Given the description of an element on the screen output the (x, y) to click on. 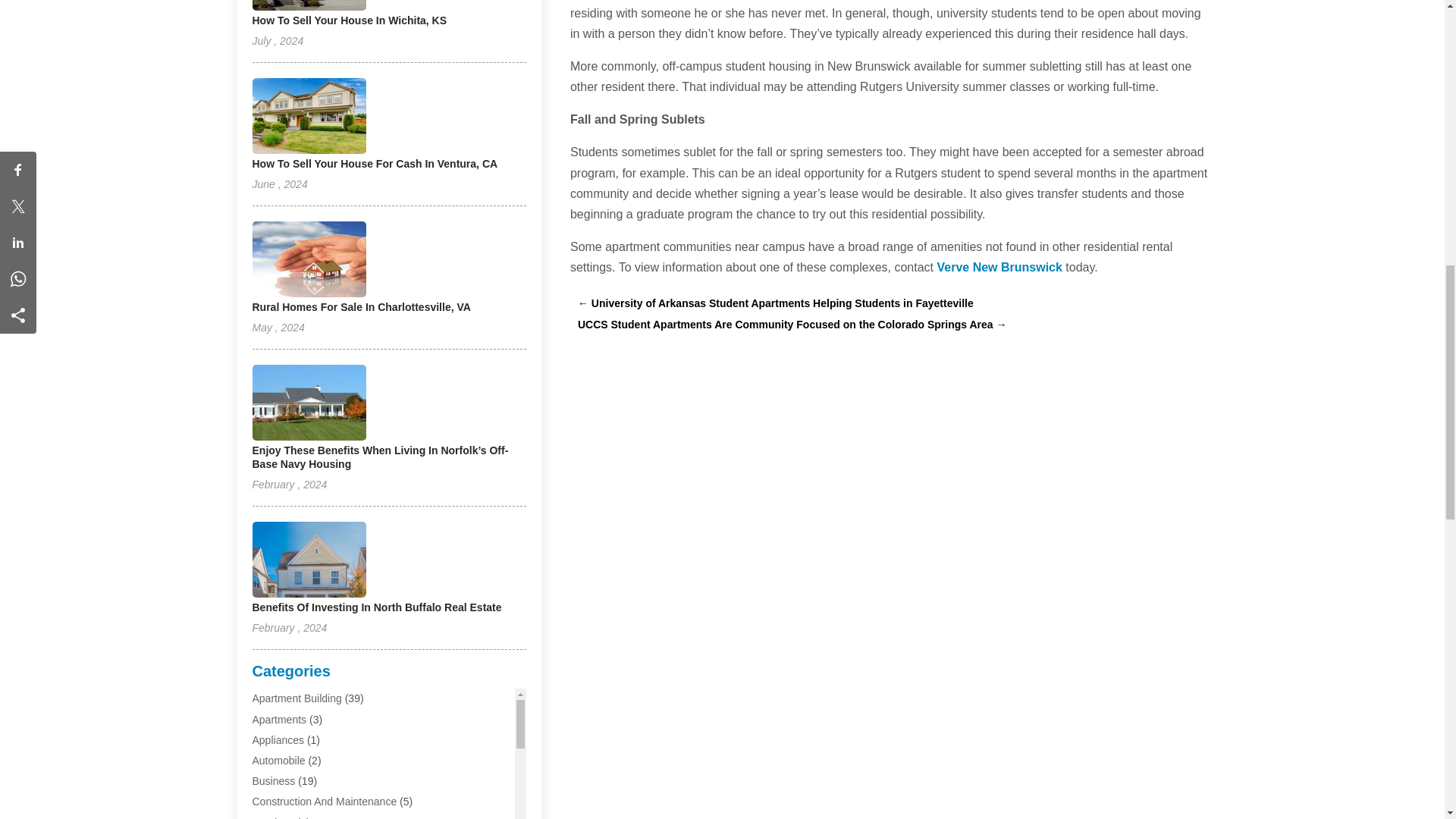
Rural Homes For Sale In Charlottesville, VA (360, 306)
Construction And Maintenance (323, 801)
Dentistry (272, 817)
Automobile (277, 760)
Business (273, 780)
How To Sell Your House In Wichita, KS (348, 20)
Benefits Of Investing In North Buffalo Real Estate (375, 607)
Apartments (278, 719)
Appliances (277, 739)
Apartment Building (295, 698)
How To Sell Your House For Cash In Ventura, CA (374, 163)
